Given the description of an element on the screen output the (x, y) to click on. 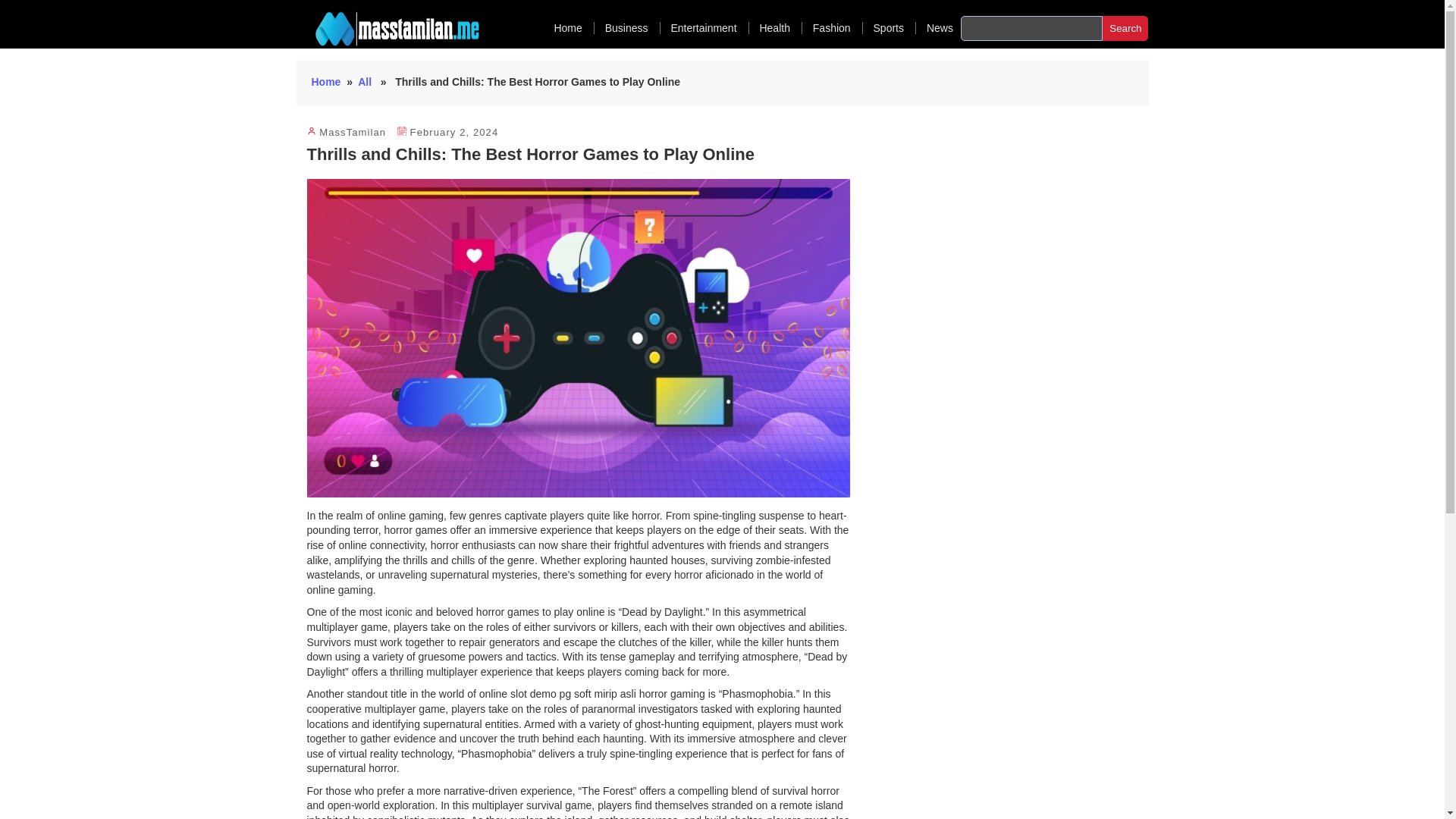
News (939, 28)
Search (1125, 27)
Fashion (837, 28)
Home (325, 81)
Business (633, 28)
All (364, 81)
Search (1125, 27)
Health (780, 28)
Entertainment (708, 28)
slot demo pg soft mirip asli (571, 693)
Sports (894, 28)
Home (573, 28)
